Given the description of an element on the screen output the (x, y) to click on. 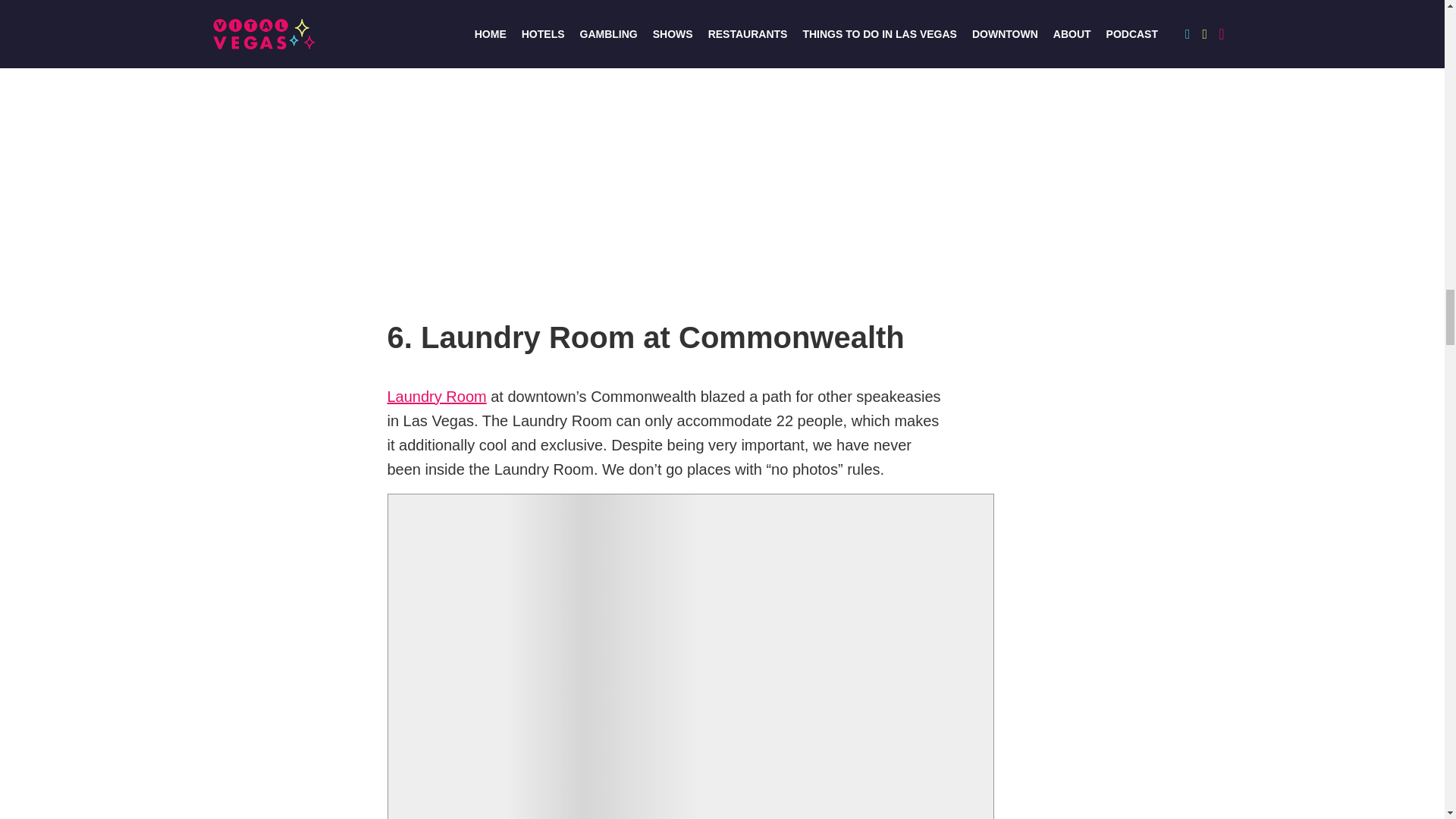
Laundry Room (436, 396)
